Given the description of an element on the screen output the (x, y) to click on. 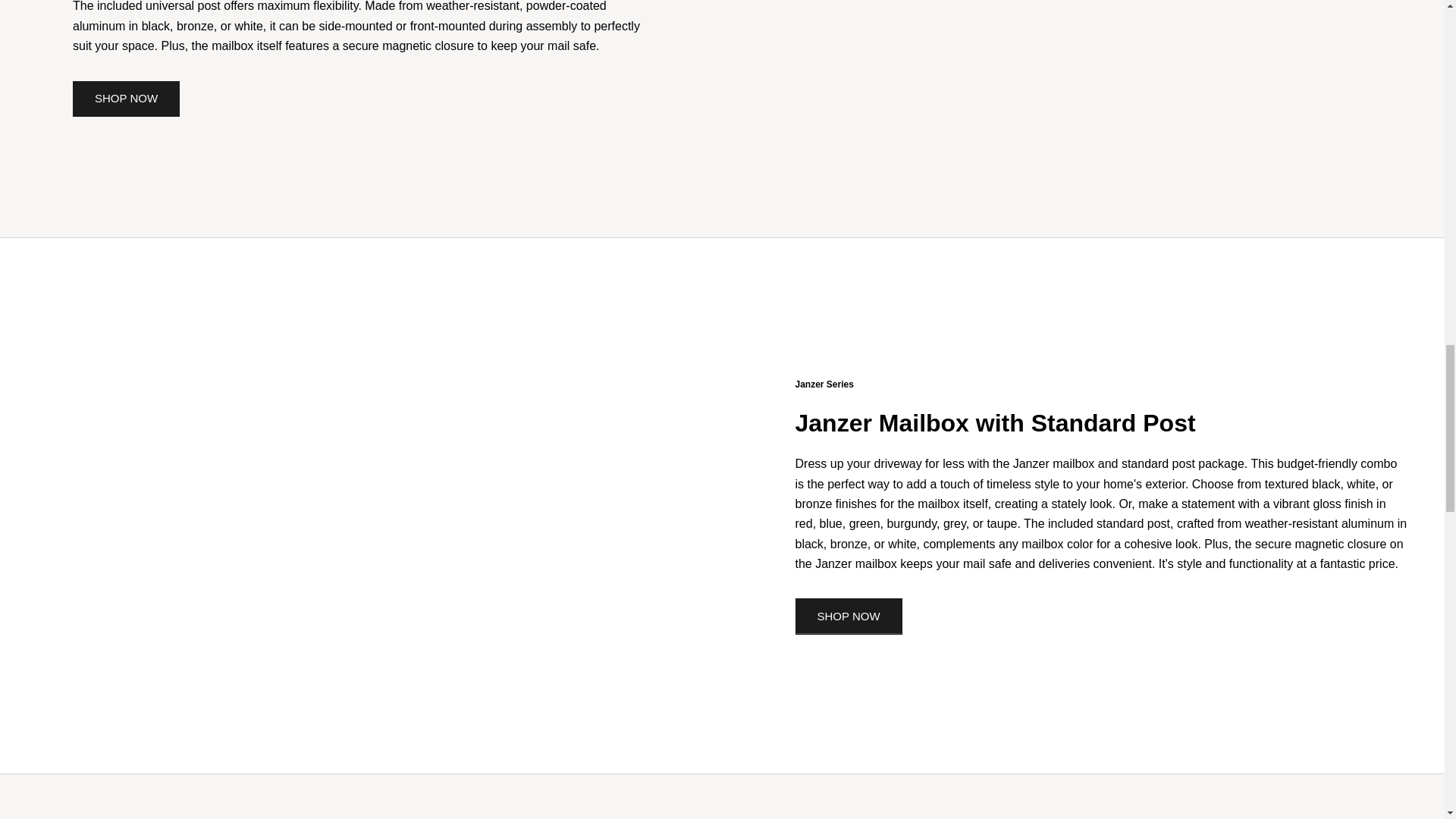
SHOP NOW (125, 99)
SHOP NOW (847, 616)
